Given the description of an element on the screen output the (x, y) to click on. 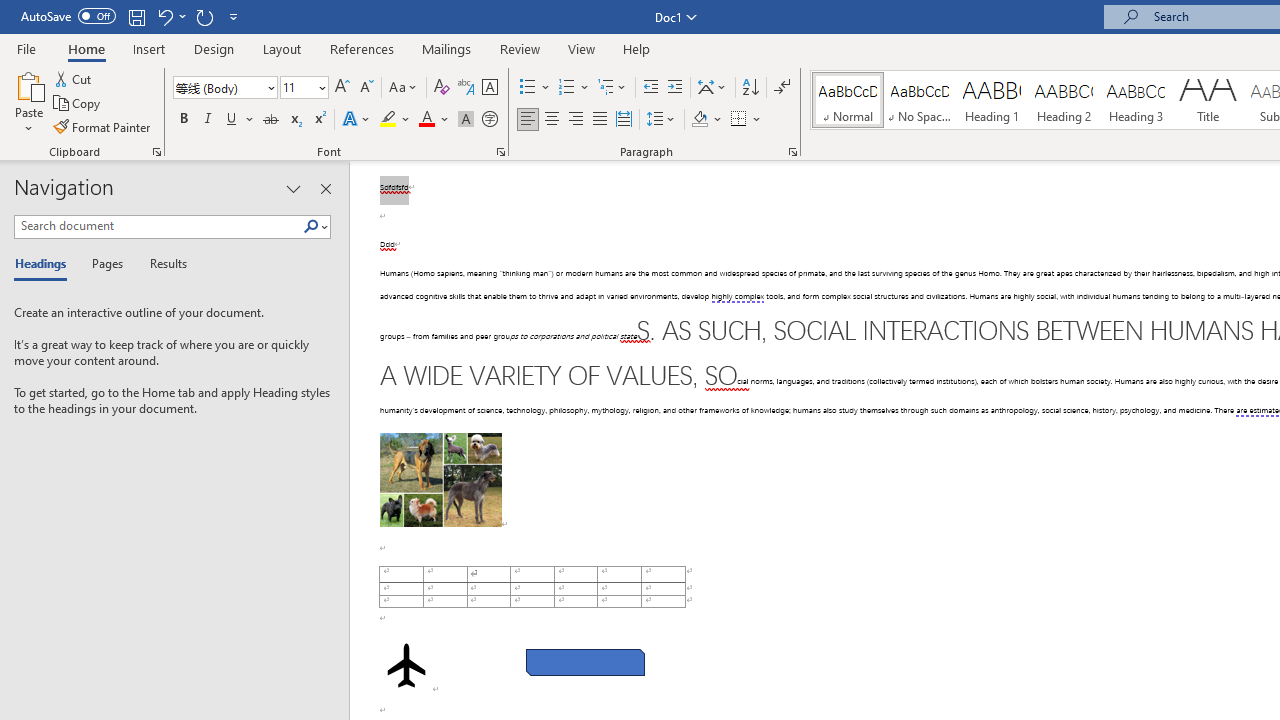
Bullets (535, 87)
Show/Hide Editing Marks (781, 87)
Save (136, 15)
Paste (28, 84)
Sort... (750, 87)
Multilevel List (613, 87)
References (362, 48)
Airplane with solid fill (406, 665)
Clear Formatting (442, 87)
Text Highlight Color Yellow (388, 119)
Font Color (434, 119)
Bullets (527, 87)
